Given the description of an element on the screen output the (x, y) to click on. 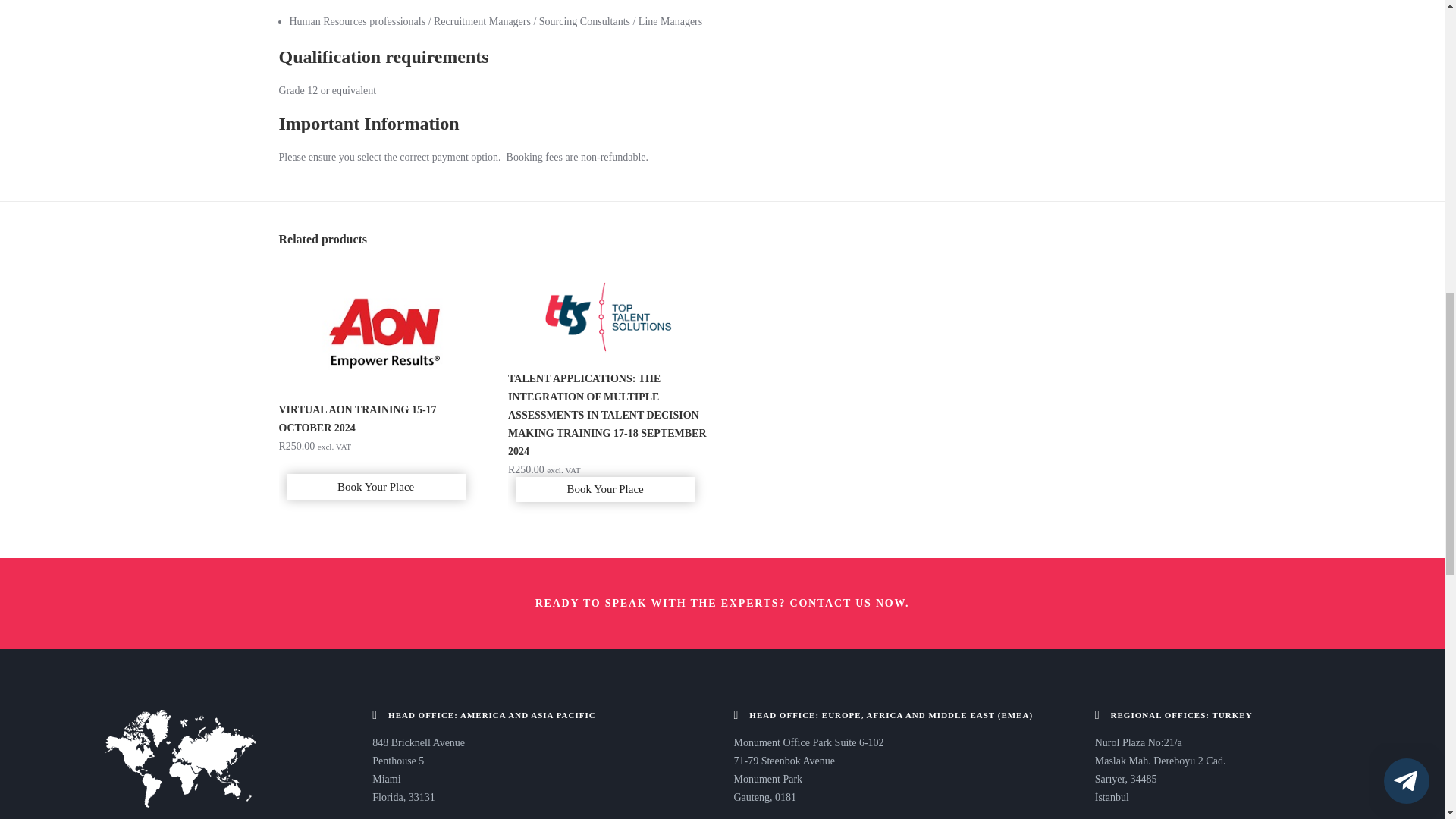
world-map (180, 758)
